Given the description of an element on the screen output the (x, y) to click on. 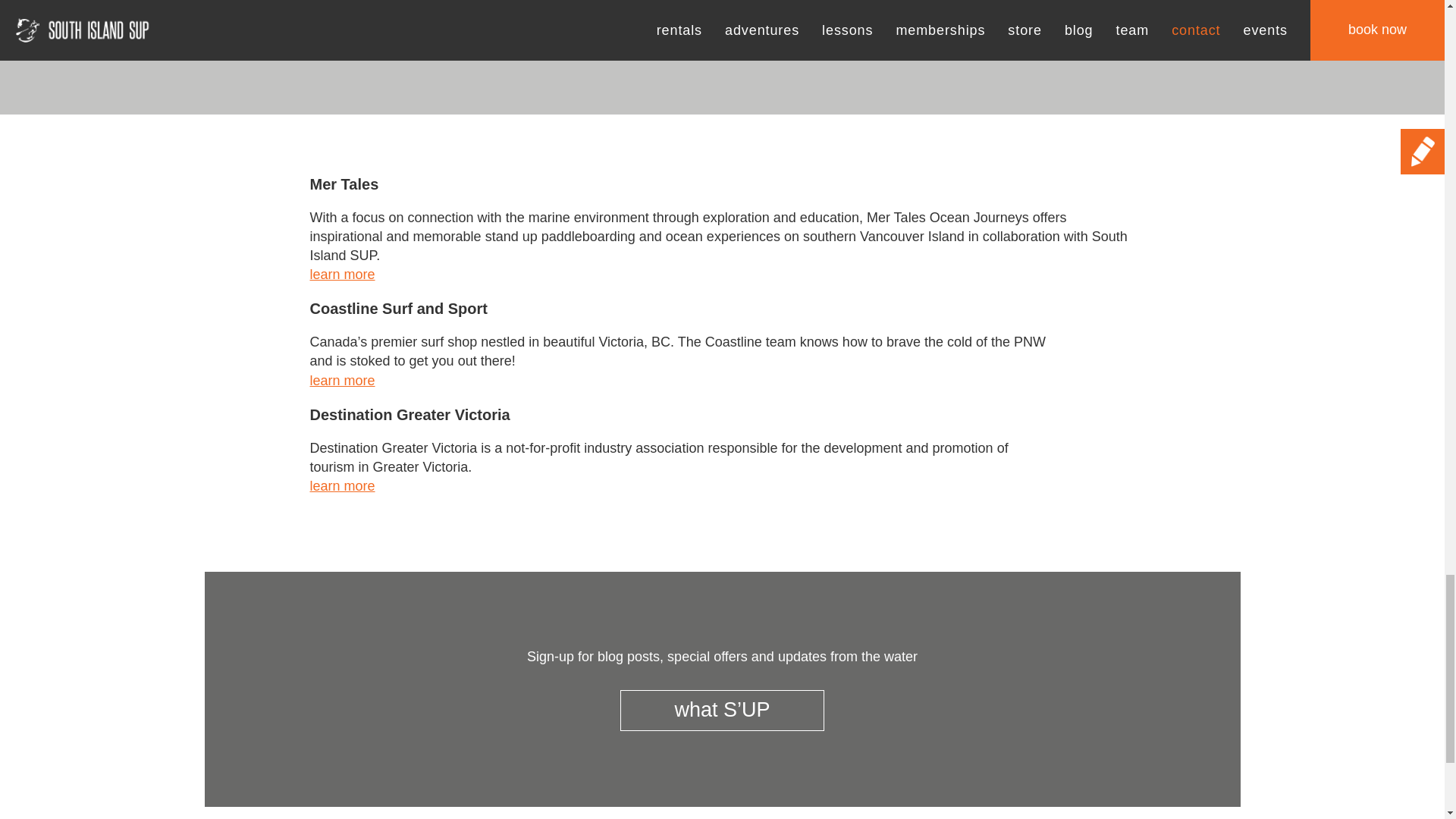
learn more (341, 273)
learn more (341, 485)
learn more (341, 380)
